Given the description of an element on the screen output the (x, y) to click on. 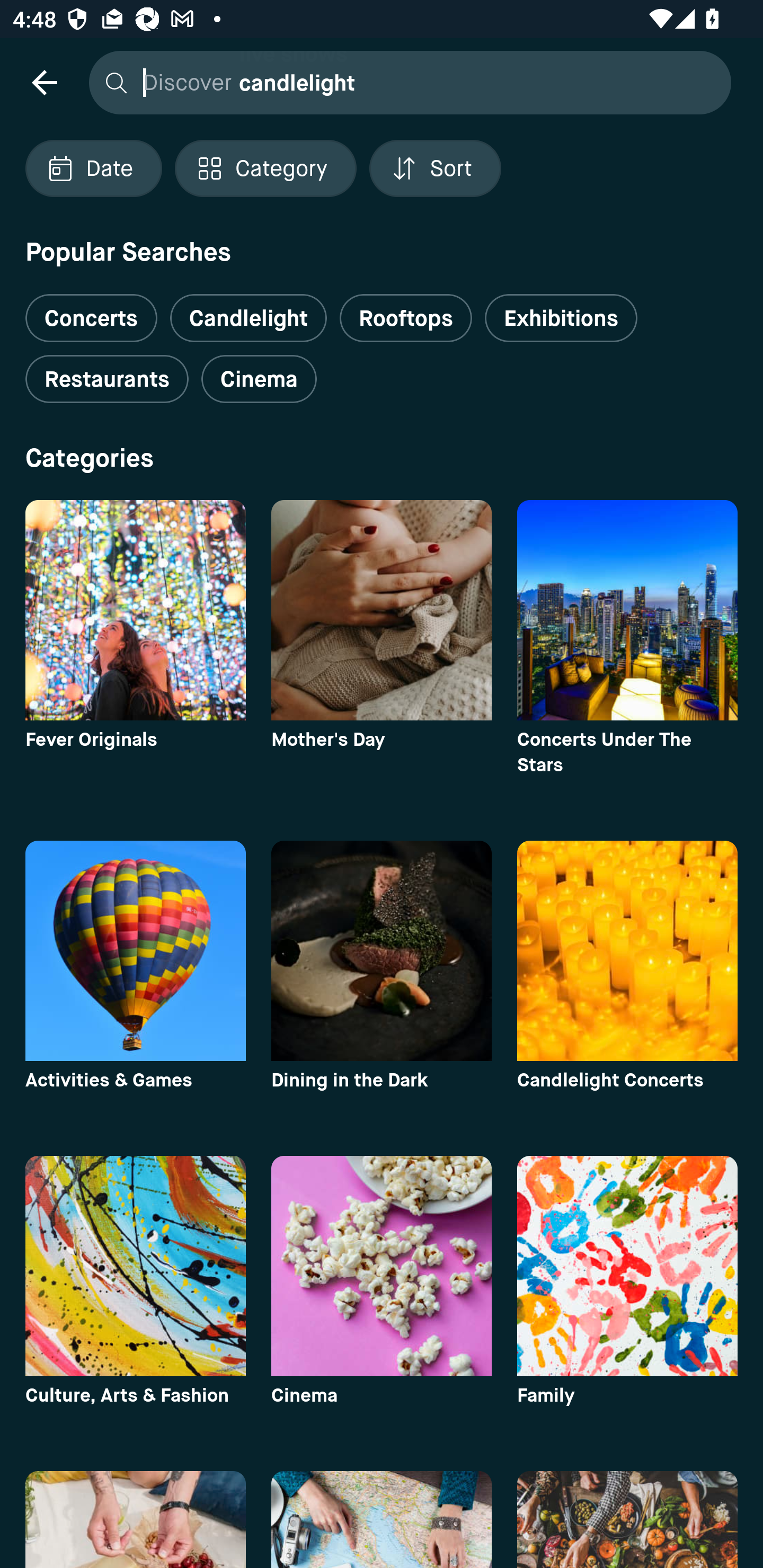
navigation icon (44, 81)
Discover live shows candlelight (405, 81)
Localized description Date (93, 168)
Localized description Category (265, 168)
Localized description Sort (435, 168)
Concerts (91, 310)
Candlelight (248, 317)
Rooftops (405, 317)
Exhibitions (560, 317)
Restaurants (106, 379)
Cinema (258, 379)
category image (135, 609)
category image (381, 609)
category image (627, 609)
category image (135, 950)
category image (381, 950)
category image (627, 950)
category image (135, 1265)
category image (381, 1265)
category image (627, 1265)
